Given the description of an element on the screen output the (x, y) to click on. 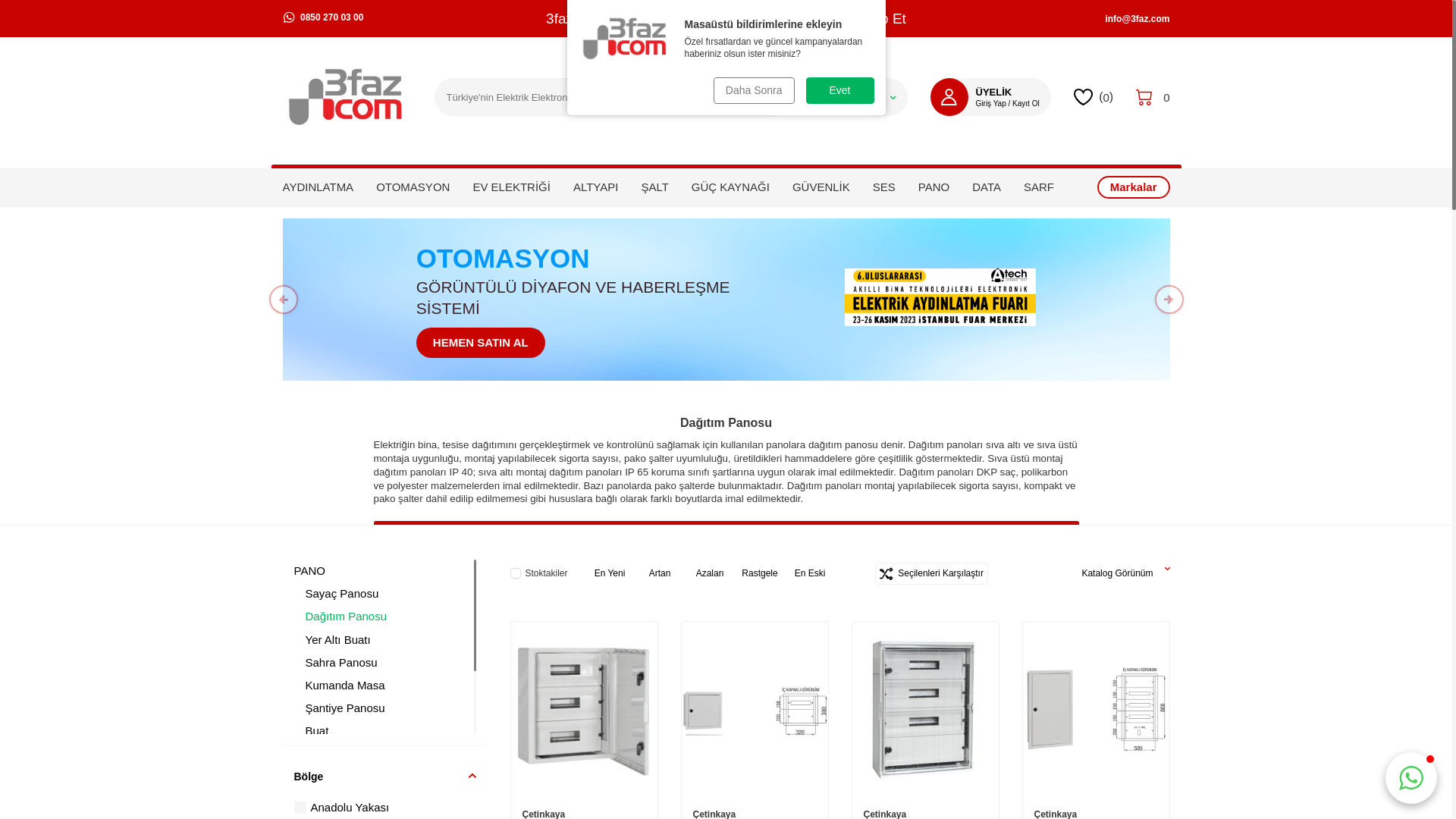
ALTYAPI Element type: text (595, 187)
Aksesuar Element type: text (388, 798)
PANO Element type: text (933, 187)
Pvc pano Element type: text (388, 776)
Buat Element type: text (388, 730)
Kumanda Masa Element type: text (388, 685)
Artan Element type: text (665, 572)
En Yeni Element type: text (615, 572)
0 Element type: text (1152, 97)
OTOMASYON Element type: text (412, 187)
Polyester Pano Element type: text (388, 753)
(
0
) Element type: text (1093, 97)
TR Element type: text (880, 97)
Daha Sonra Element type: text (753, 90)
AYDINLATMA Element type: text (318, 187)
Azalan Element type: text (715, 572)
HEMEN SATIN AL Element type: text (480, 342)
Rastgele Element type: text (765, 572)
En Eski Element type: text (815, 572)
info@3faz.com Element type: text (1136, 17)
Evet Element type: text (839, 90)
DATA Element type: text (986, 187)
PANO Element type: text (383, 570)
Markalar Element type: text (1133, 186)
Sahra Panosu Element type: text (388, 662)
0850 270 03 00 Element type: text (384, 17)
SES Element type: text (883, 187)
SARF Element type: text (1038, 187)
